Given the description of an element on the screen output the (x, y) to click on. 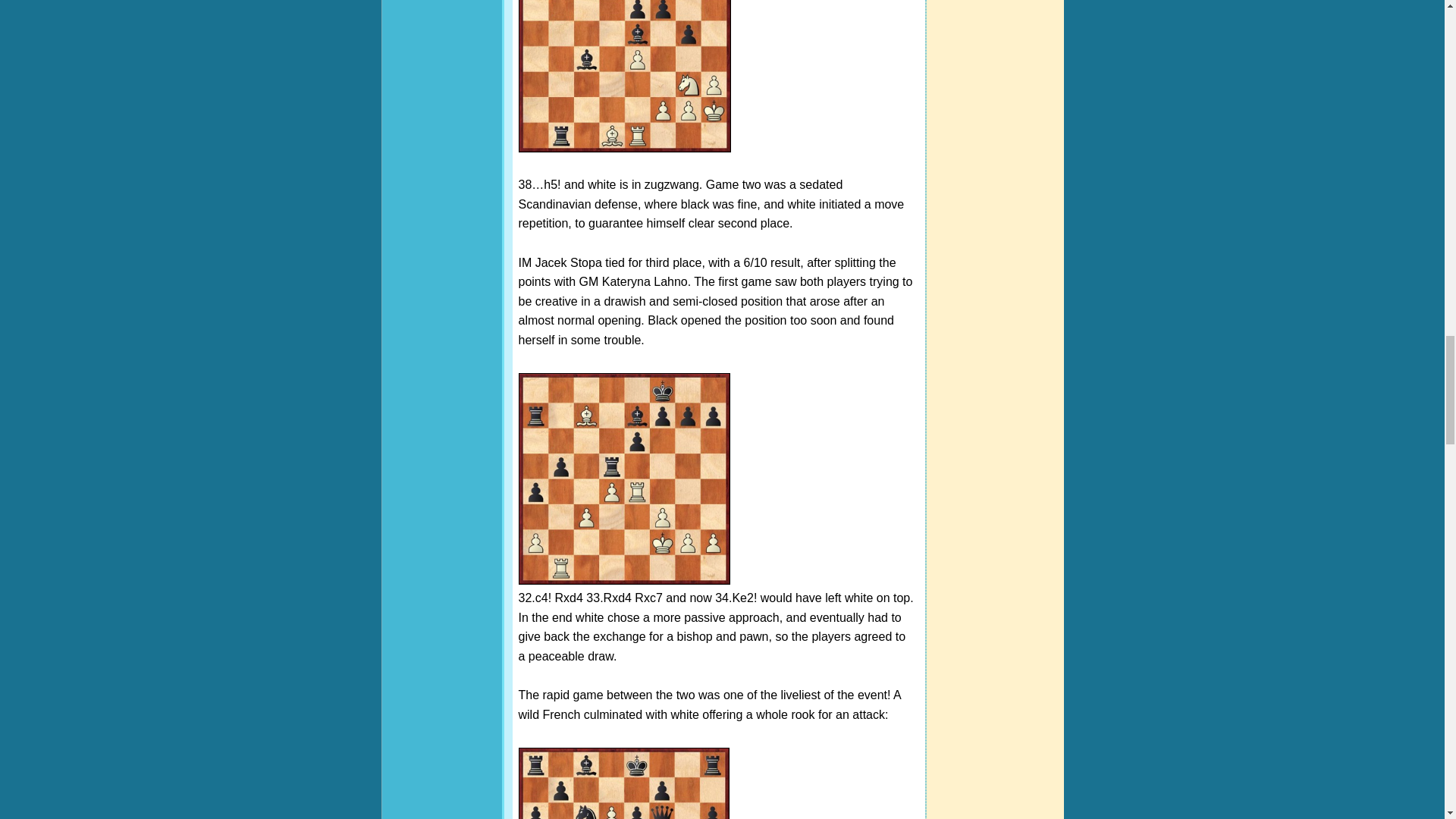
StopaLahno.jpg (624, 478)
LahnoStopa.jpg (623, 783)
FierroFinegold.jpg (624, 76)
